Given the description of an element on the screen output the (x, y) to click on. 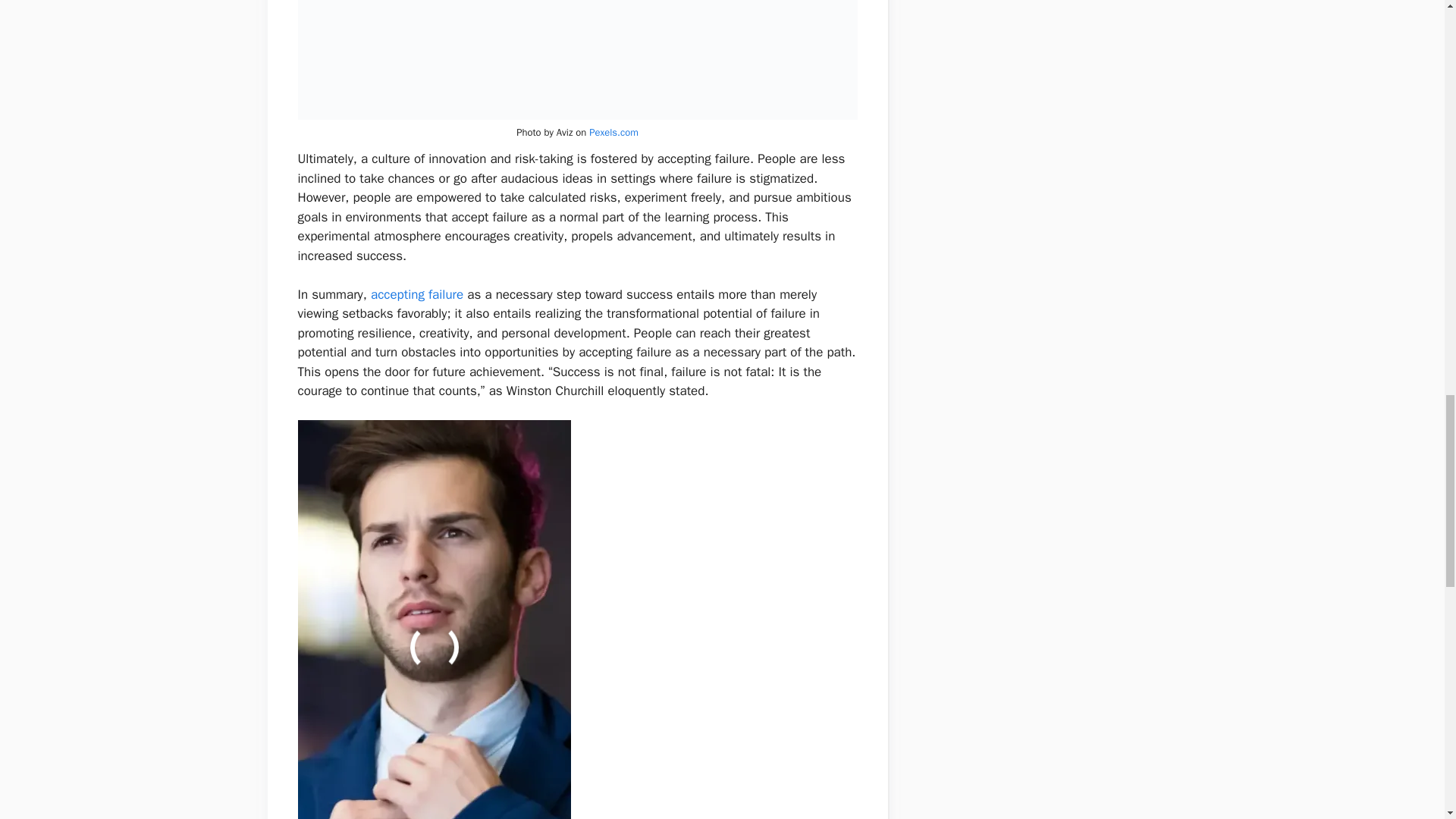
Embracing Failure as a Stepping Stone to Success (577, 59)
accepting failure (417, 294)
Pexels.com (614, 132)
